Given the description of an element on the screen output the (x, y) to click on. 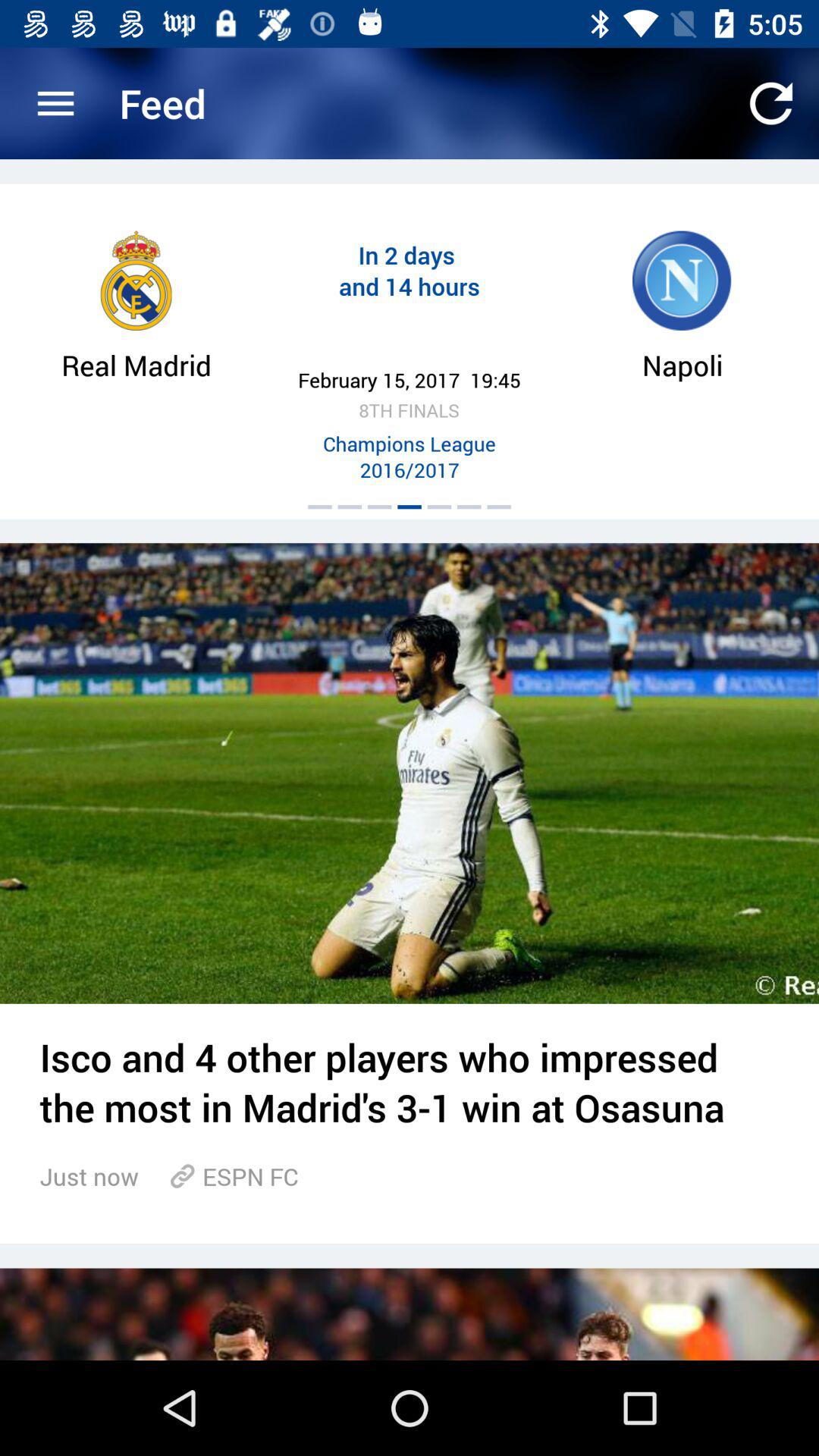
select the icon which is at the top right corner (771, 103)
